Given the description of an element on the screen output the (x, y) to click on. 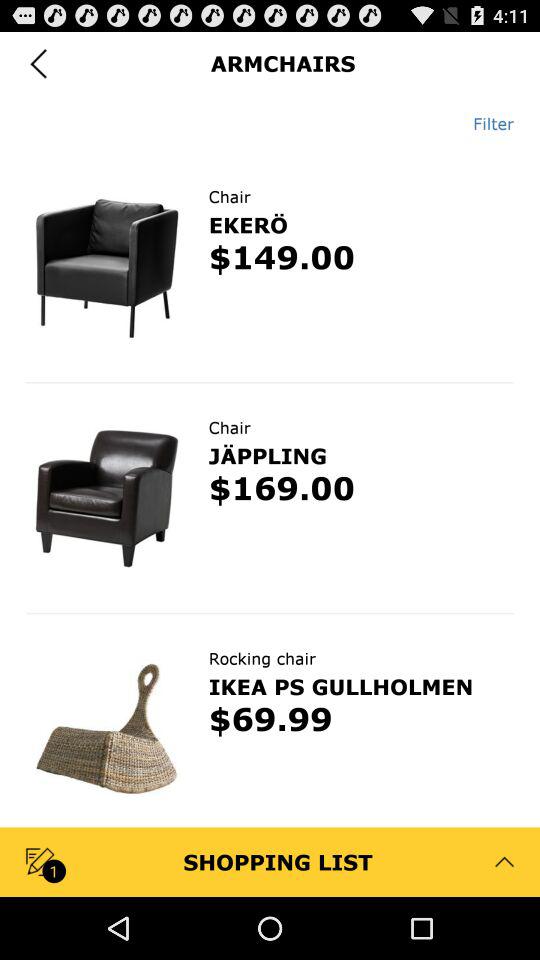
select app below armchairs item (486, 123)
